Given the description of an element on the screen output the (x, y) to click on. 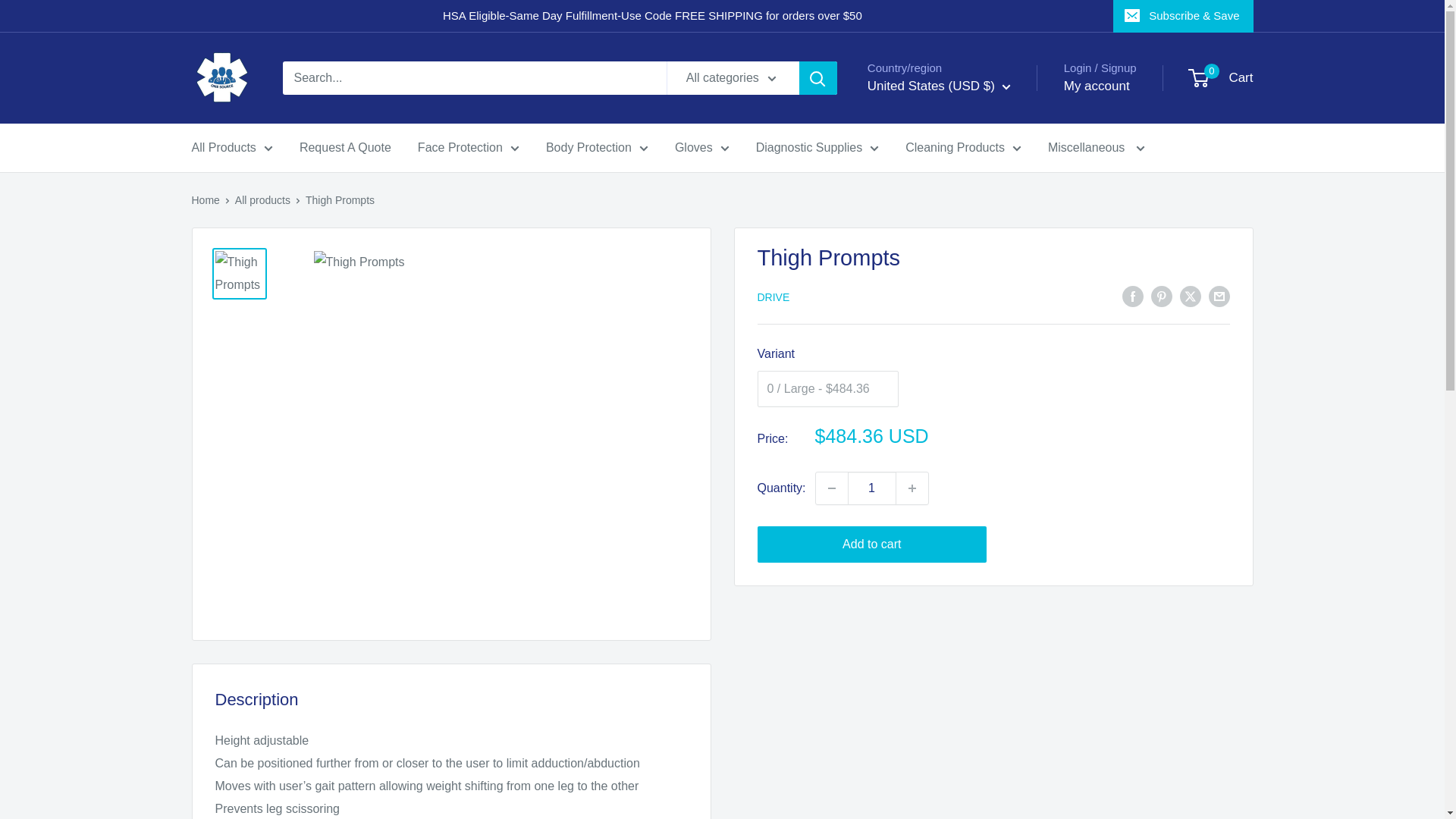
Decrease quantity by 1 (831, 488)
1 (871, 488)
Increase quantity by 1 (912, 488)
